Given the description of an element on the screen output the (x, y) to click on. 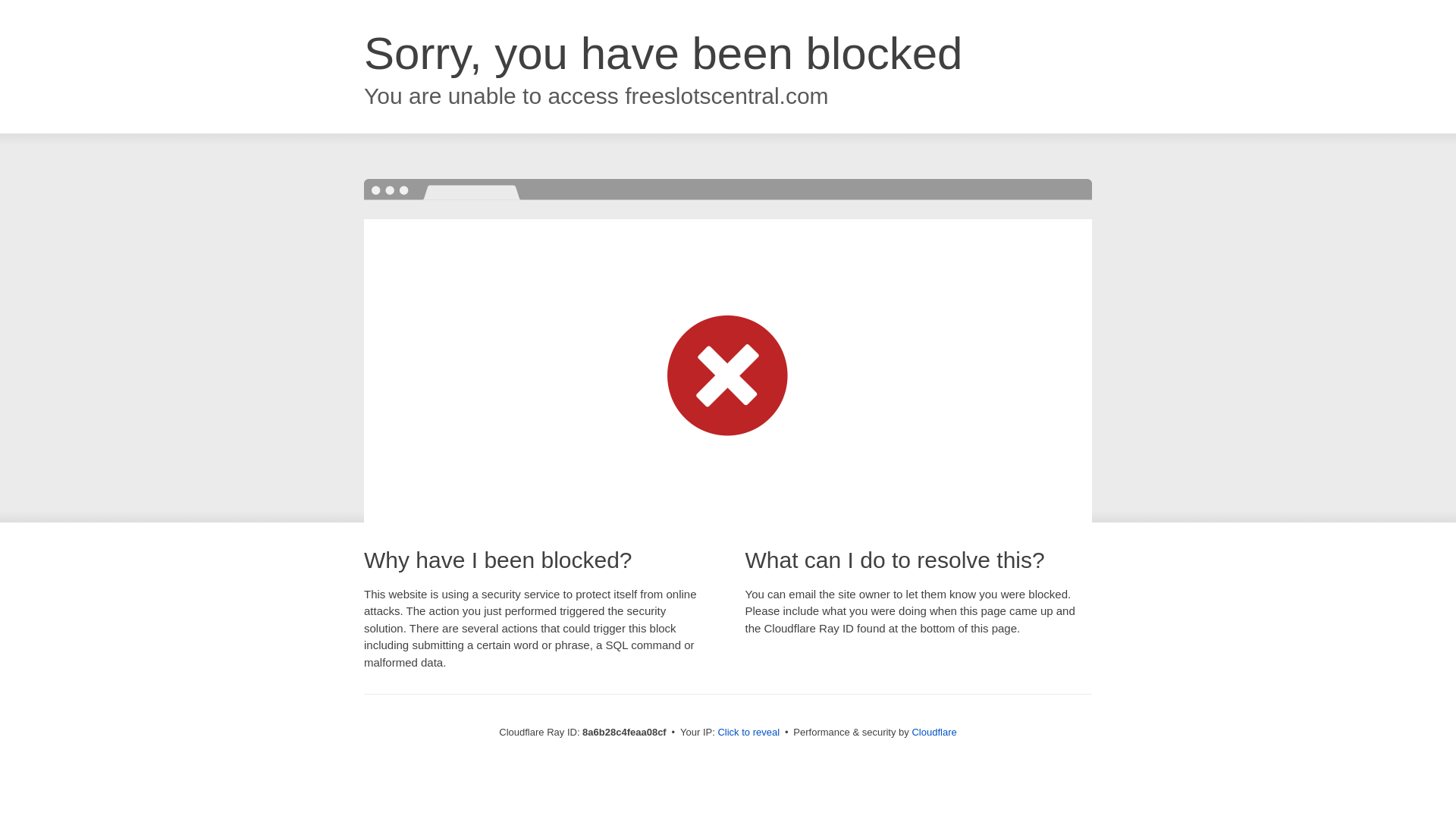
Click to reveal (747, 732)
Cloudflare (933, 731)
